Given the description of an element on the screen output the (x, y) to click on. 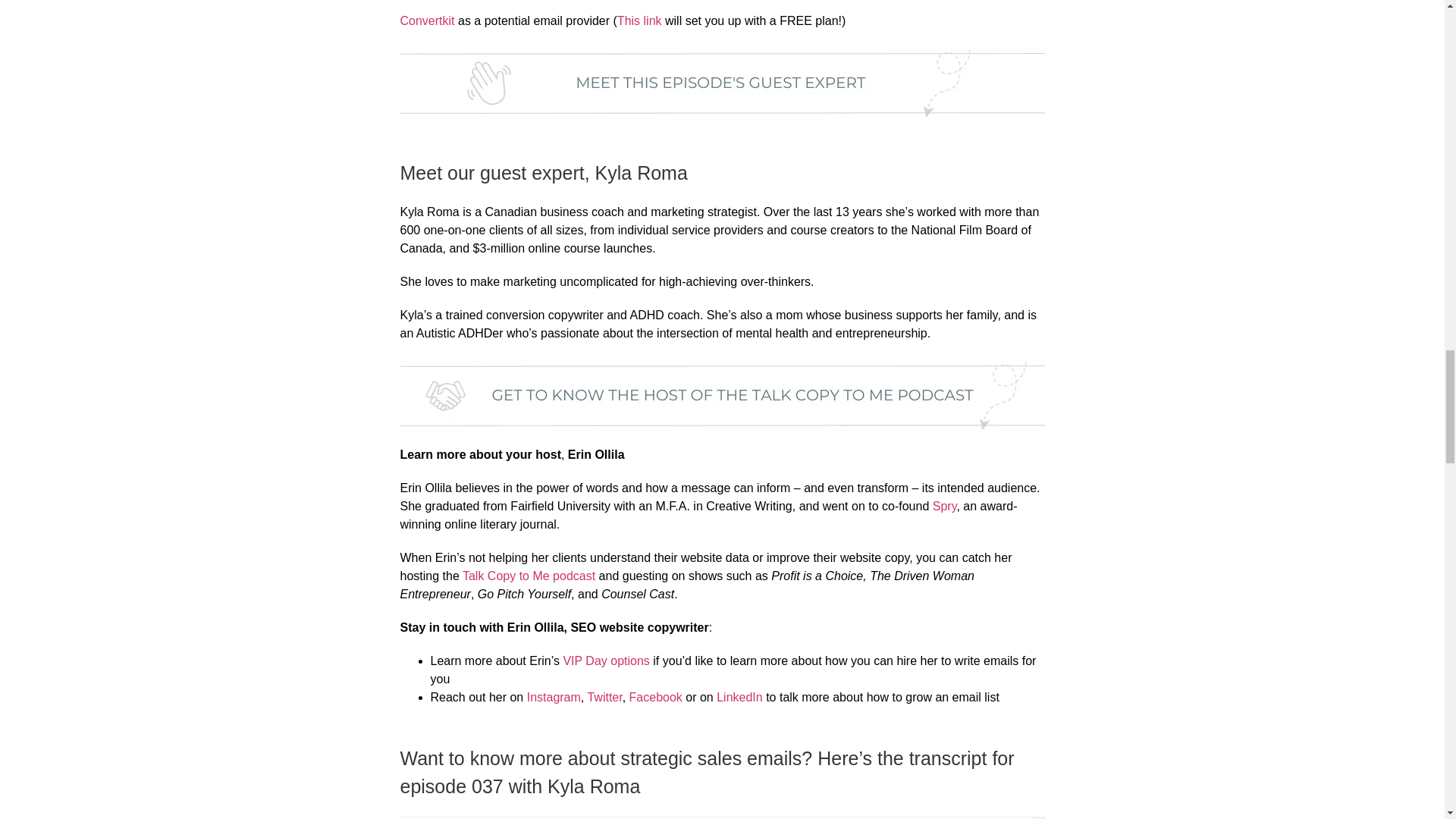
This link (639, 20)
VIP Day options (605, 660)
Talk Copy to Me podcast (529, 575)
Facebook (655, 697)
Spry (944, 505)
Instagram (553, 697)
Twitter (603, 697)
Convertkit (427, 20)
LinkedIn (739, 697)
